Given the description of an element on the screen output the (x, y) to click on. 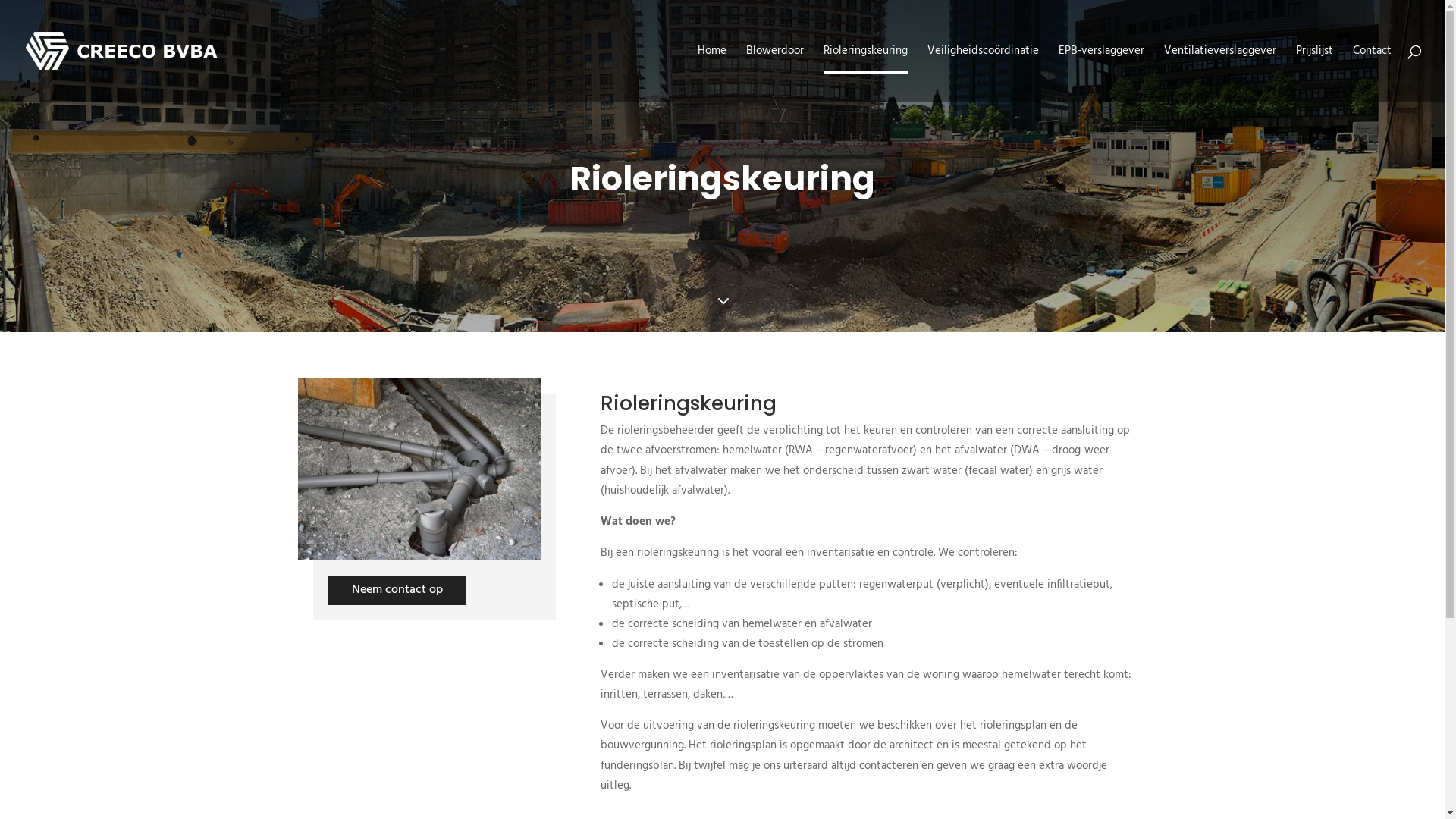
EPB-verslaggever Element type: text (1101, 73)
3 Element type: text (722, 302)
Rioleringskeuring Element type: text (865, 73)
Neem contact op Element type: text (396, 590)
Blowerdoor Element type: text (774, 73)
Prijslijst Element type: text (1314, 73)
Ventilatieverslaggever Element type: text (1220, 73)
Contact Element type: text (1371, 73)
Home Element type: text (711, 73)
